Given the description of an element on the screen output the (x, y) to click on. 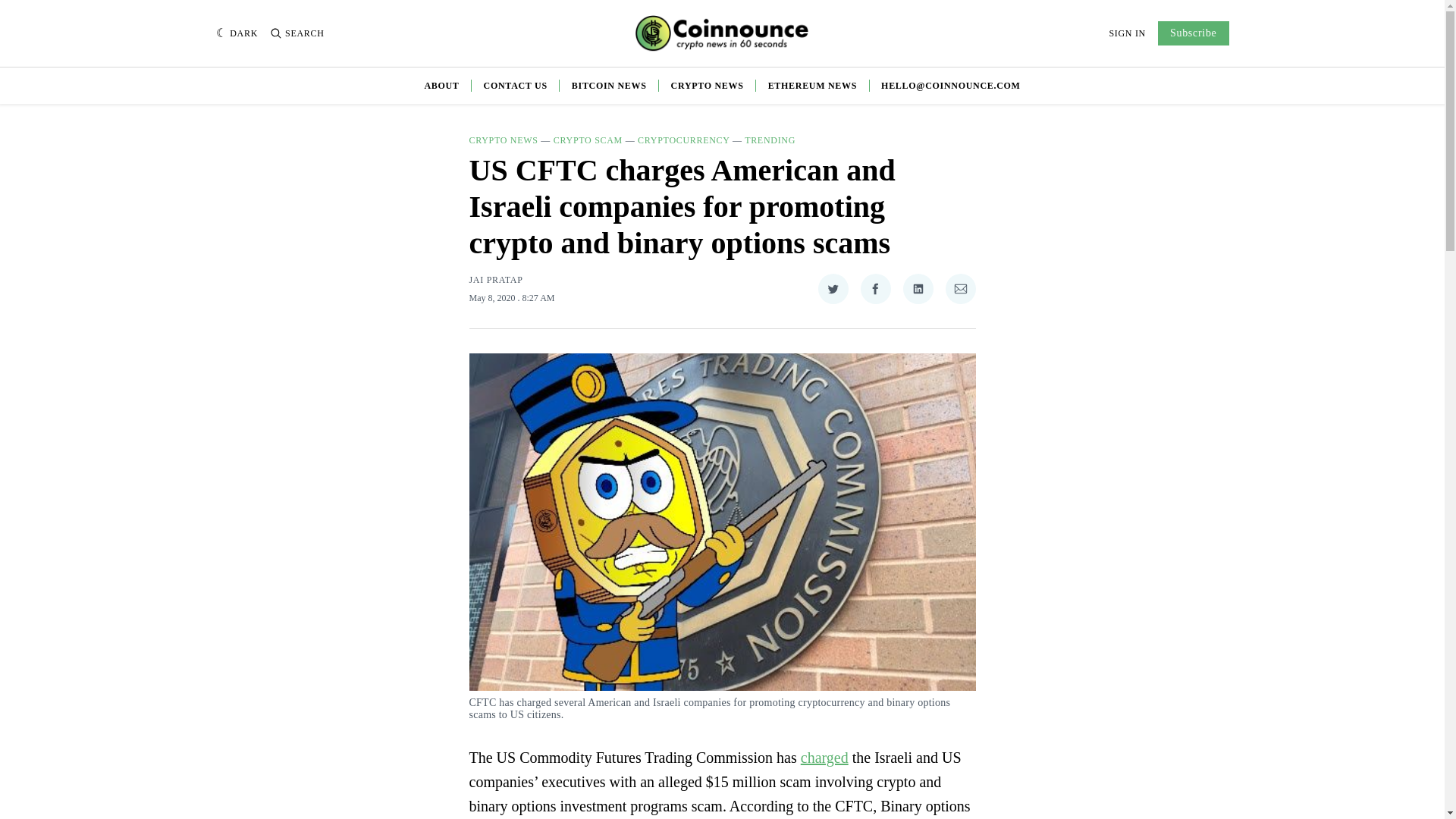
CRYPTOCURRENCY (683, 140)
BITCOIN NEWS (609, 85)
SEARCH (296, 33)
Share on Facebook (874, 288)
Subscribe (1192, 33)
CRYPTO SCAM (588, 140)
DARK (236, 32)
TRENDING (769, 140)
CONTACT US (515, 85)
Share on LinkedIn (917, 288)
ETHEREUM NEWS (812, 85)
charged (824, 757)
CRYPTO NEWS (707, 85)
JAI PRATAP (495, 279)
SIGN IN (1126, 33)
